Given the description of an element on the screen output the (x, y) to click on. 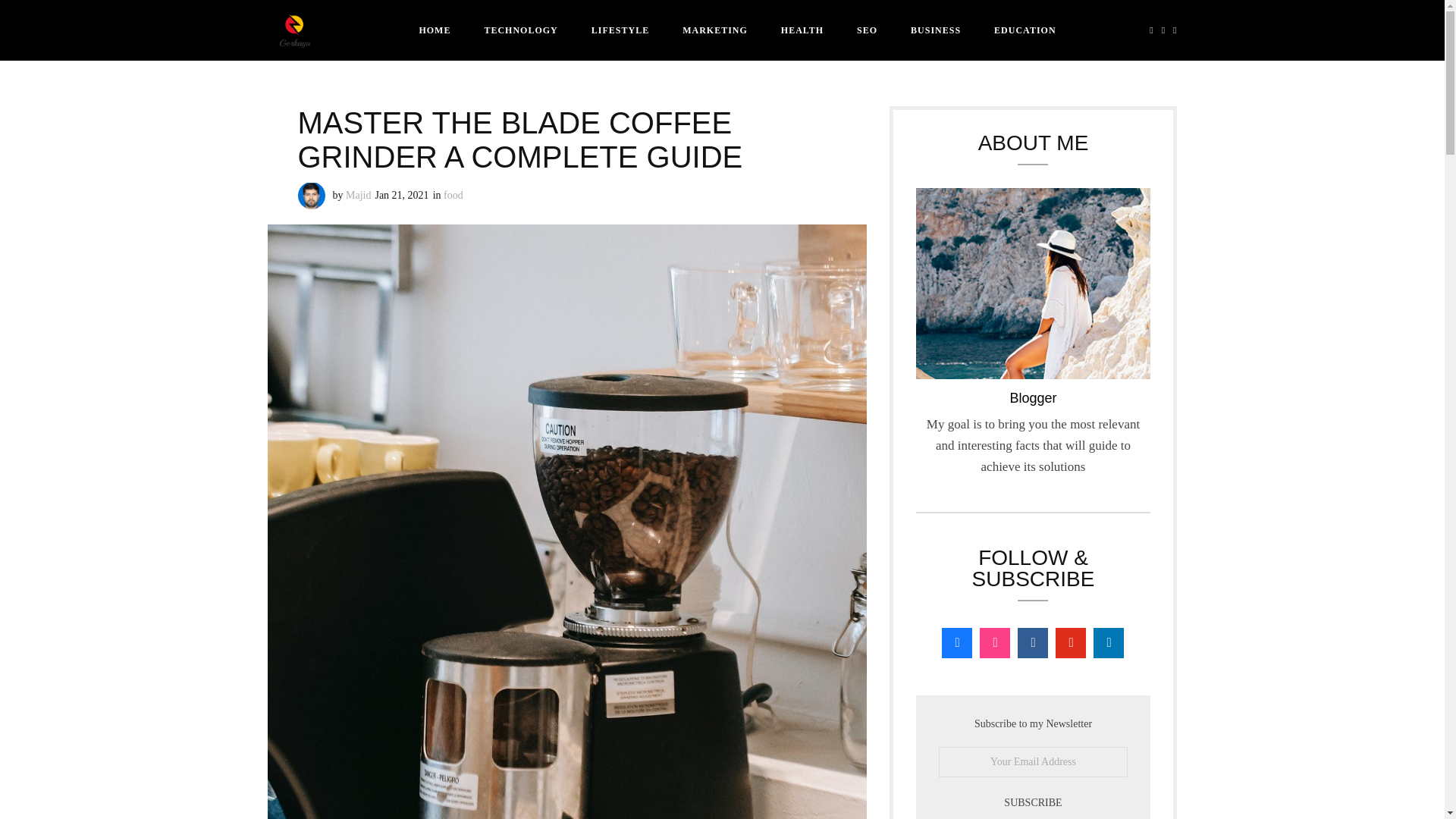
food (453, 194)
Facebook (1151, 30)
HOME (434, 30)
Twitter (1172, 30)
Majid khan (310, 195)
LIFESTYLE (619, 30)
SEO (866, 30)
Gorkaya Logo (293, 30)
food (453, 194)
Majid (358, 194)
Instagram (1163, 30)
TECHNOLOGY (520, 30)
Subscribe (1033, 802)
